Given the description of an element on the screen output the (x, y) to click on. 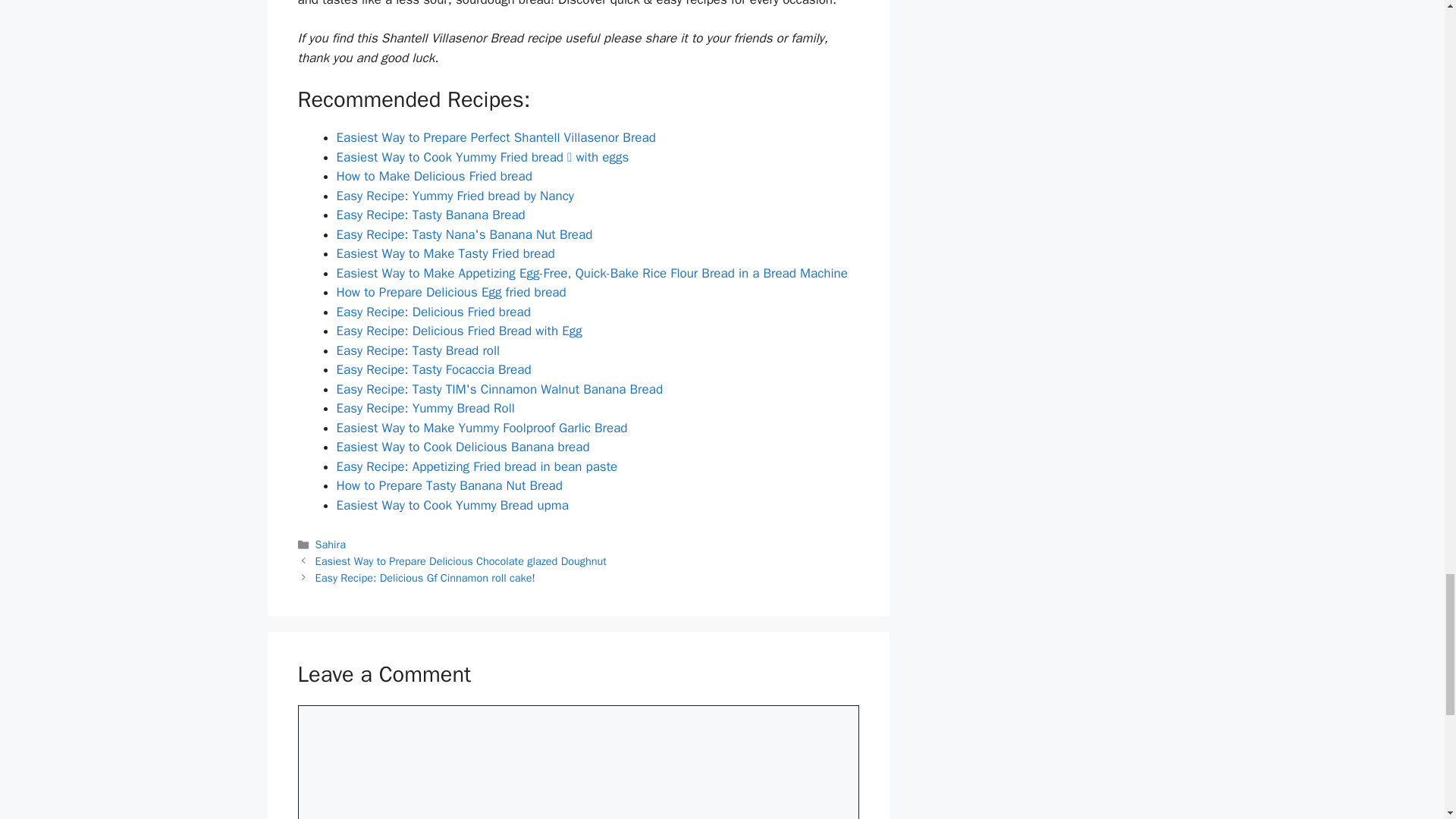
Easy Recipe: Delicious Fried bread (433, 311)
Easiest Way to Cook Delicious Banana bread (462, 446)
Easiest Way to Prepare Perfect Shantell Villasenor Bread (496, 137)
Easy Recipe: Delicious Fried Bread with Egg (459, 330)
Easy Recipe: Appetizing Fried bread in bean paste (476, 466)
Sahira (330, 544)
Easiest Way to Make Yummy Foolproof Garlic Bread (481, 427)
How to Prepare Tasty Banana Nut Bread (449, 485)
Easy Recipe: Delicious Gf Cinnamon roll cake! (425, 577)
Easy Recipe: Tasty Banana Bread (430, 214)
Easiest Way to Make Tasty Fried bread (445, 253)
Easy Recipe: Tasty TIM's Cinnamon Walnut Banana Bread (499, 389)
Easy Recipe: Tasty Nana's Banana Nut Bread (464, 234)
Easy Recipe: Tasty Focaccia Bread (433, 369)
